Given the description of an element on the screen output the (x, y) to click on. 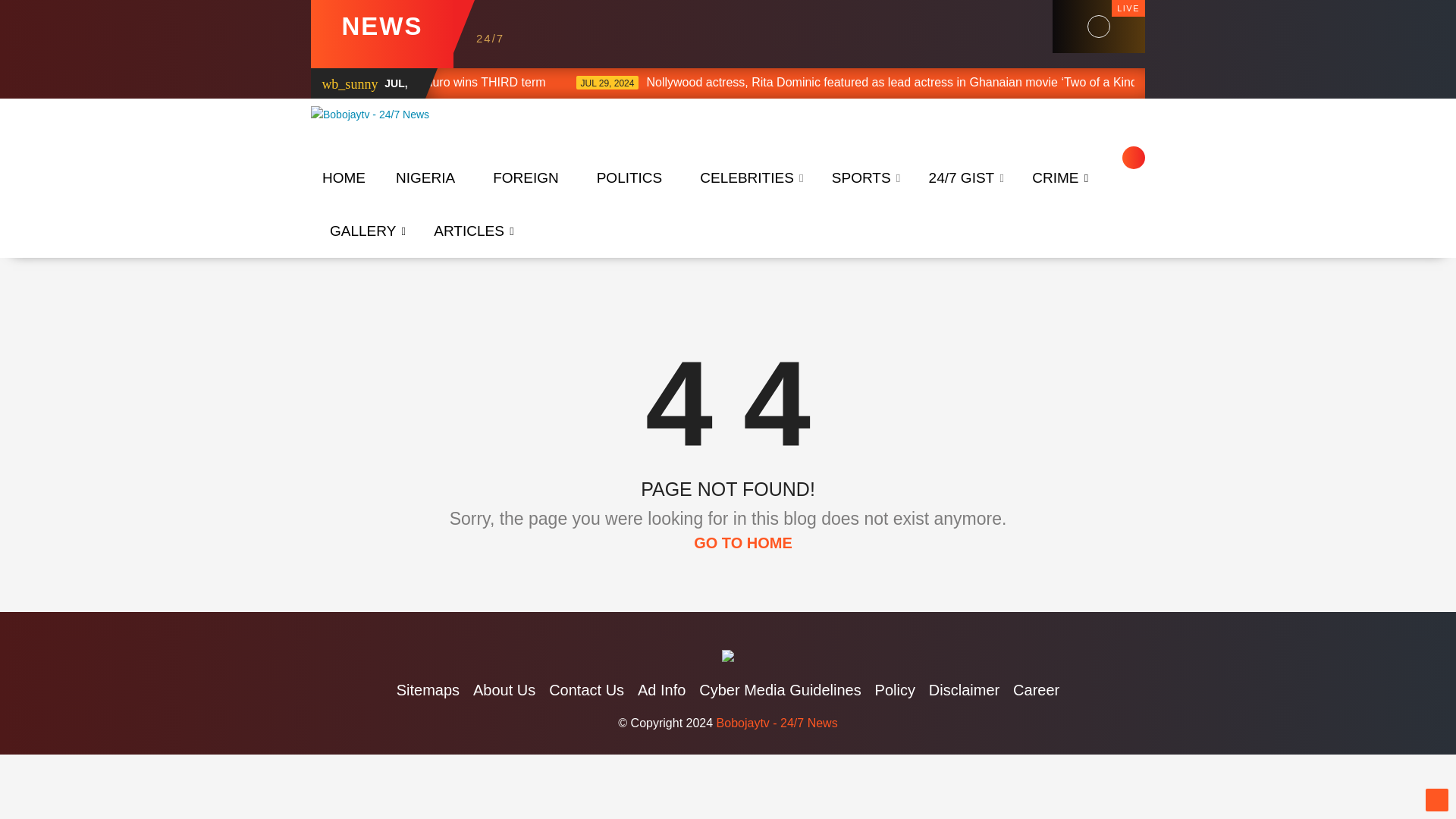
SPORTS (861, 177)
HOME (344, 177)
POLITICS (629, 177)
FOREIGN (526, 177)
NIGERIA (425, 177)
CELEBRITIES (746, 177)
